Given the description of an element on the screen output the (x, y) to click on. 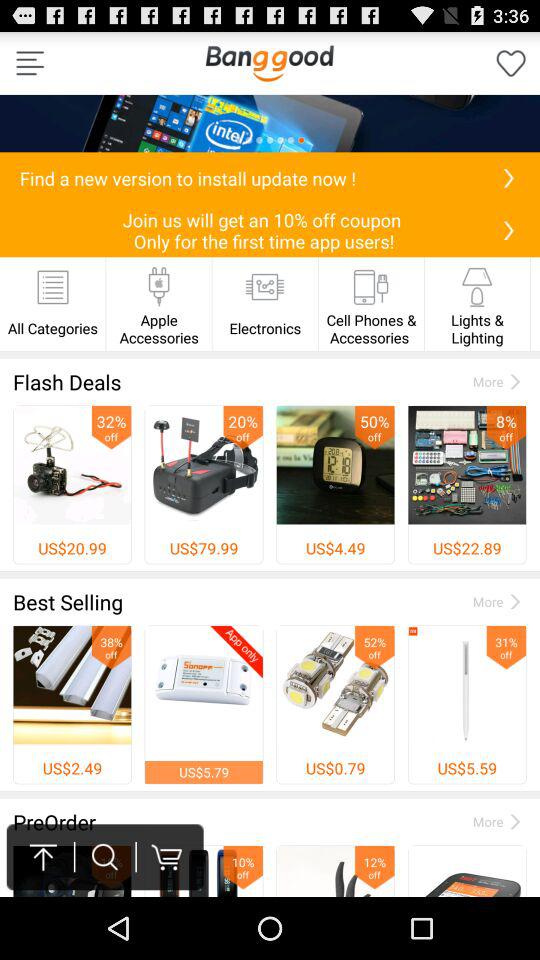
search for updates (508, 177)
